Given the description of an element on the screen output the (x, y) to click on. 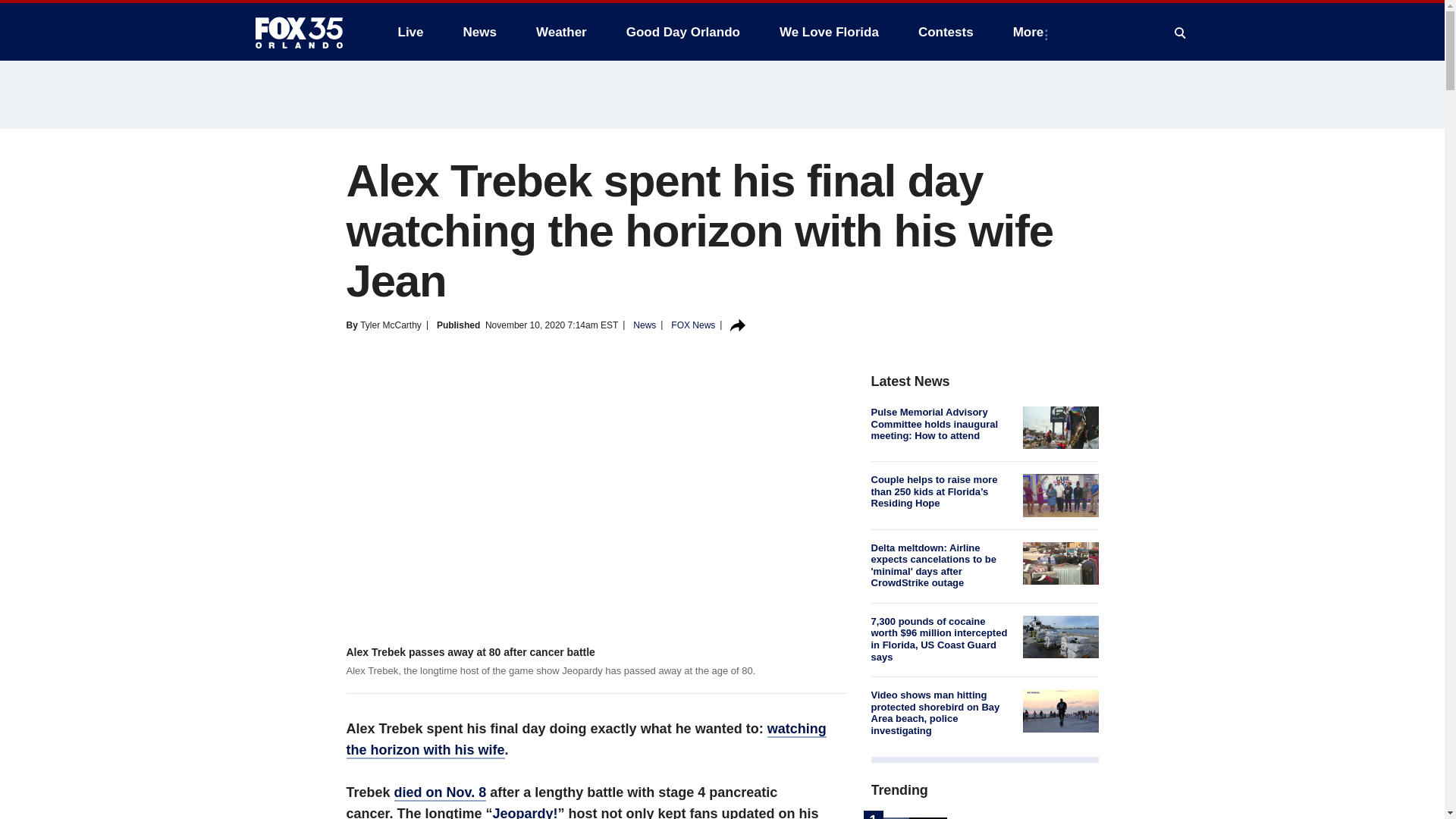
Contests (945, 32)
More (1031, 32)
Live (410, 32)
Good Day Orlando (683, 32)
We Love Florida (829, 32)
News (479, 32)
Weather (561, 32)
